Given the description of an element on the screen output the (x, y) to click on. 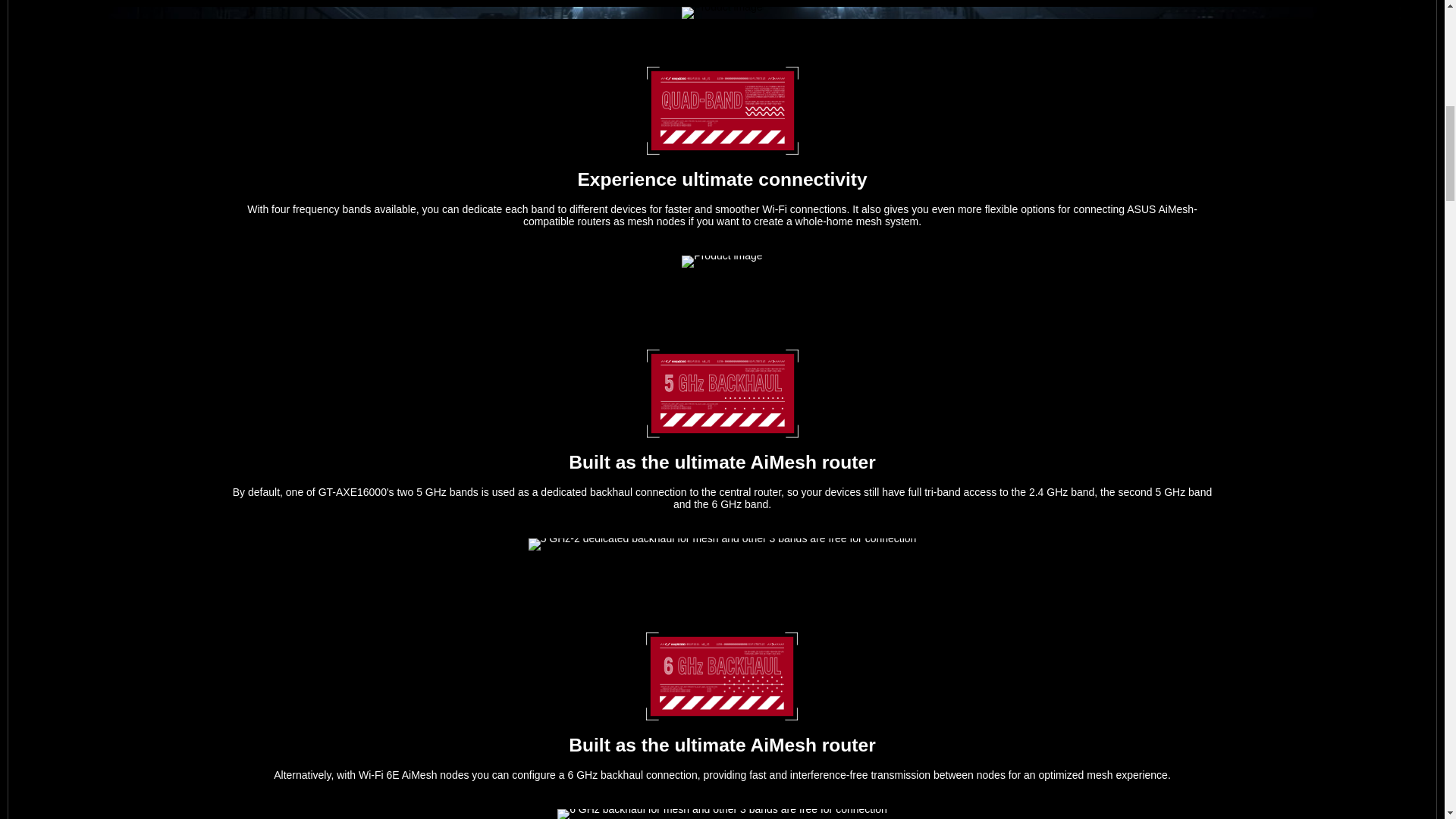
Product image show larger image (721, 261)
Product image show larger image (721, 12)
